Given the description of an element on the screen output the (x, y) to click on. 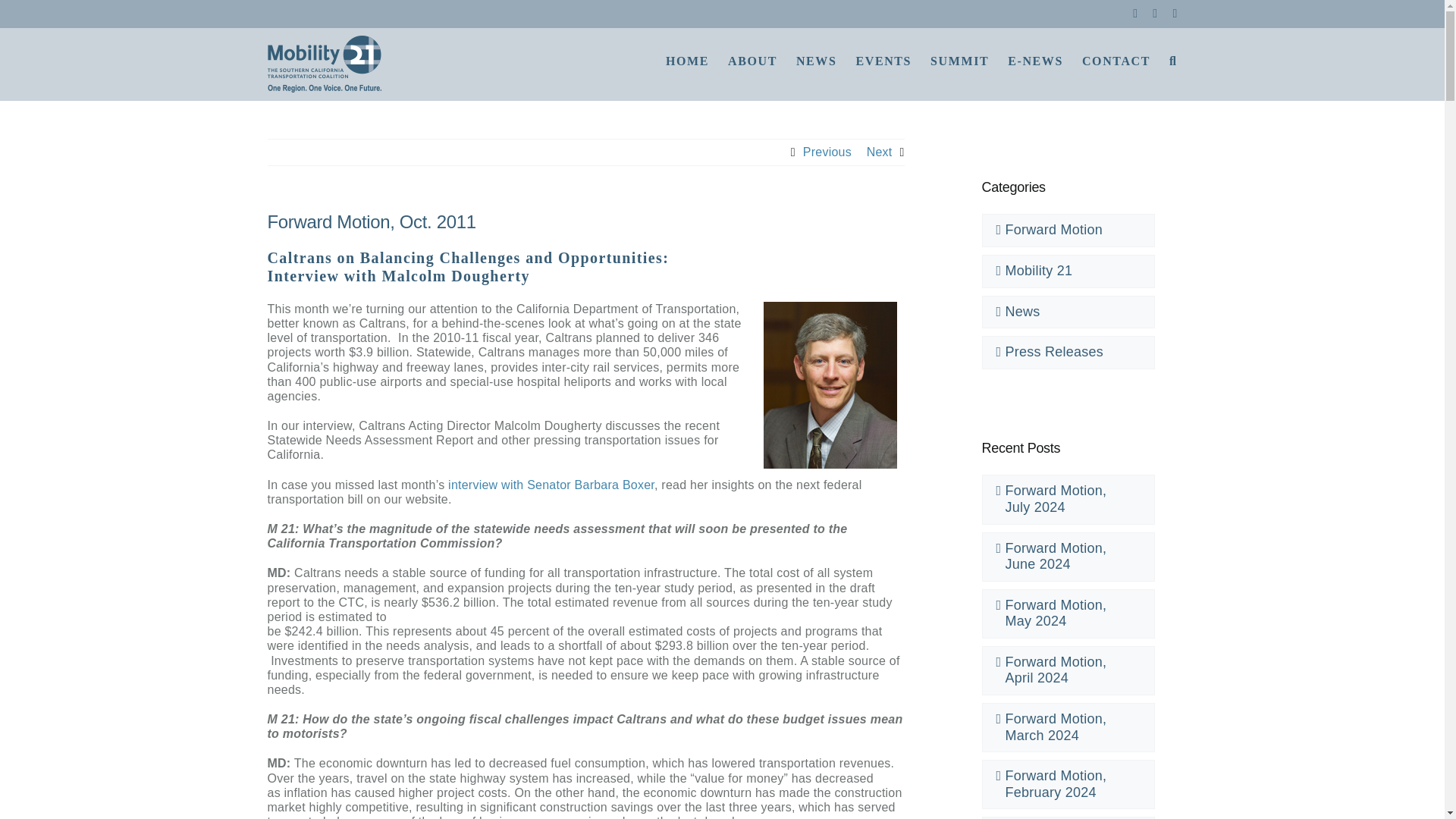
interview with Senator Barbara Boxer (550, 484)
SUMMIT (959, 59)
CONTACT (1115, 59)
Previous (827, 152)
Next (879, 152)
